Given the description of an element on the screen output the (x, y) to click on. 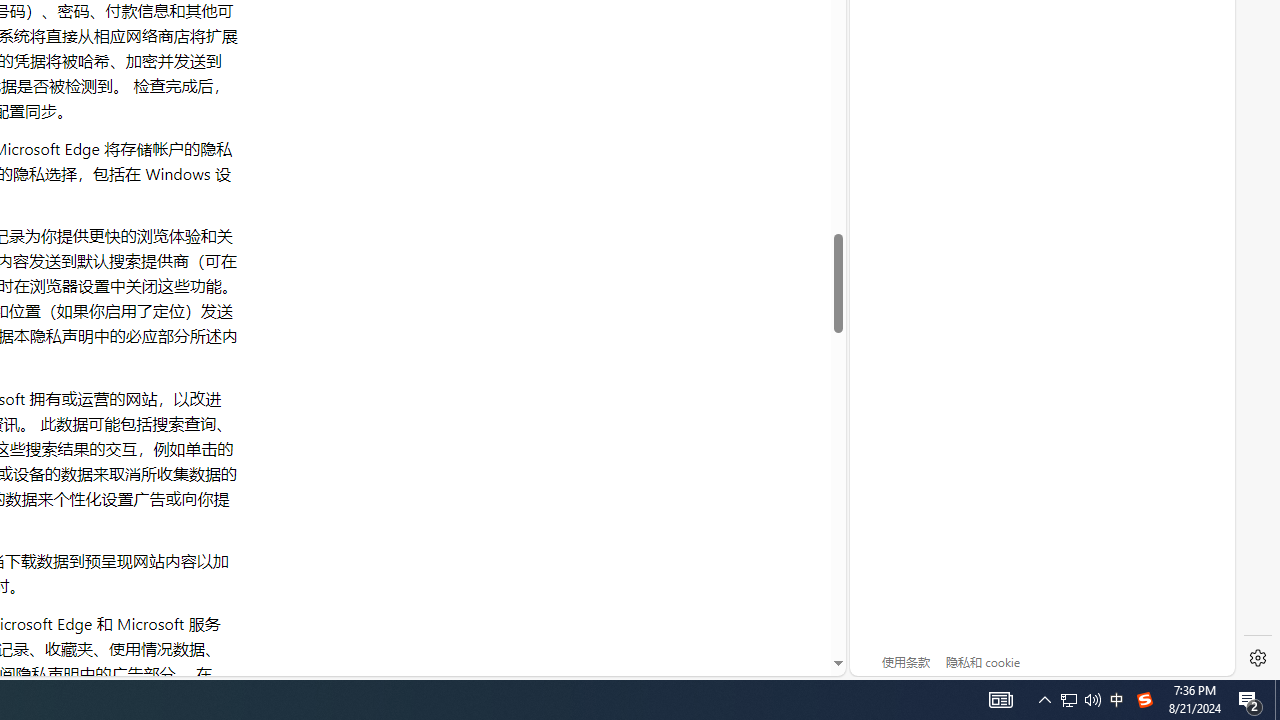
Settings (1258, 658)
